Given the description of an element on the screen output the (x, y) to click on. 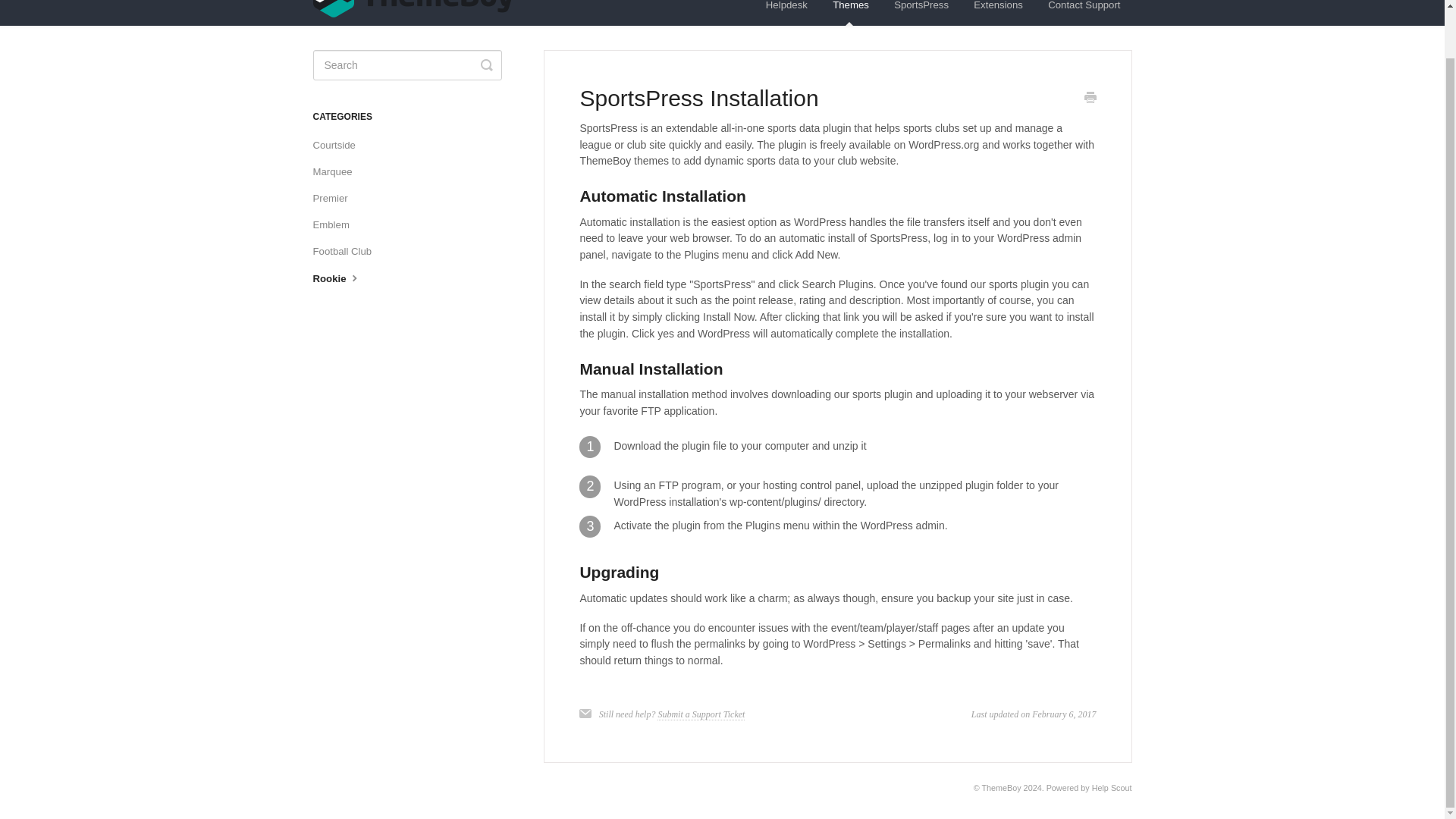
Helpdesk (786, 12)
ThemeBoy (1000, 787)
Help Scout (1112, 787)
Premier (335, 198)
SportsPress (920, 12)
Rookie (343, 278)
Marquee (337, 171)
Courtside (339, 145)
Themes (850, 12)
Football Club (347, 251)
